Given the description of an element on the screen output the (x, y) to click on. 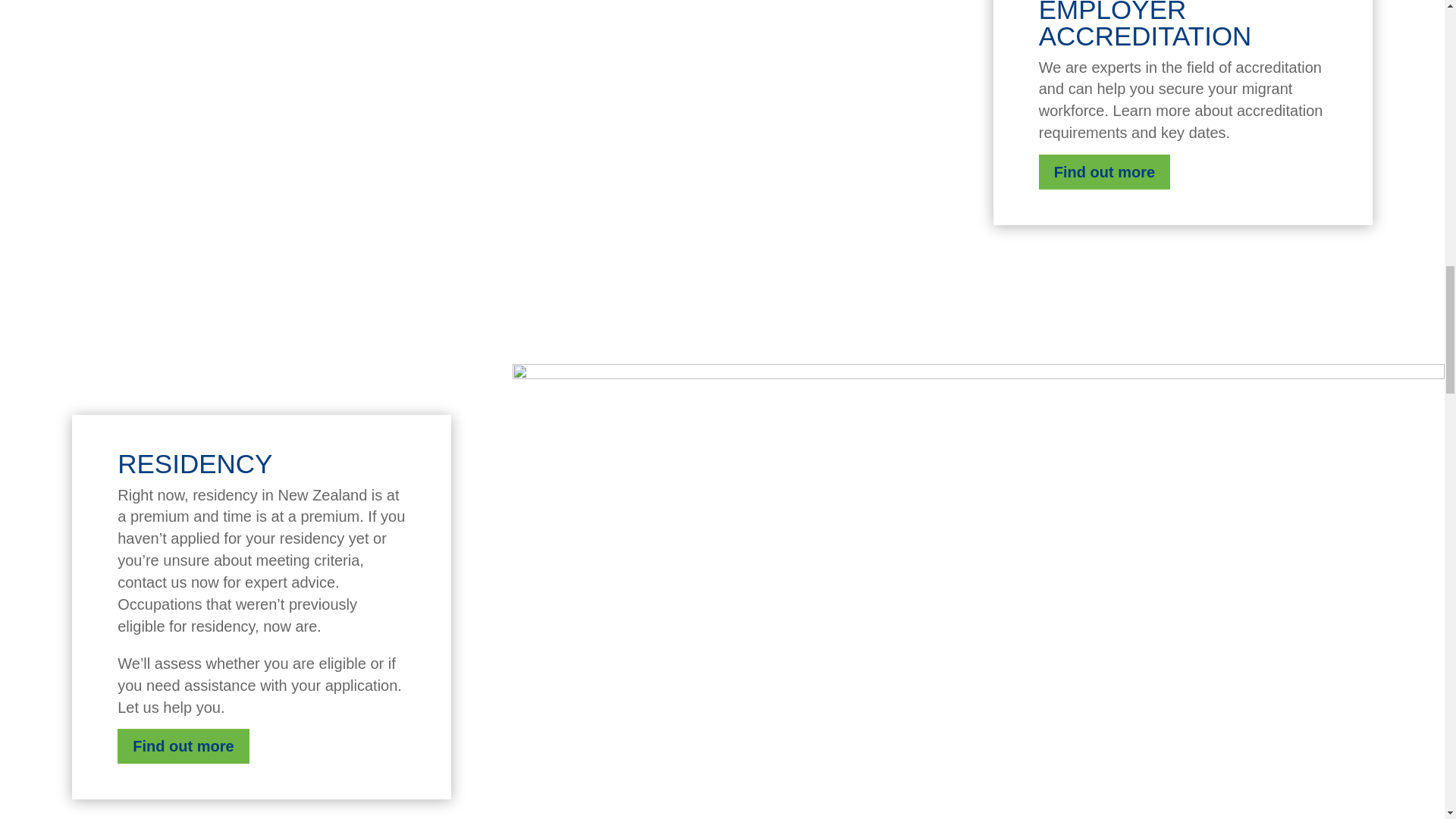
Find out more (1104, 171)
Find out more (182, 745)
